Given the description of an element on the screen output the (x, y) to click on. 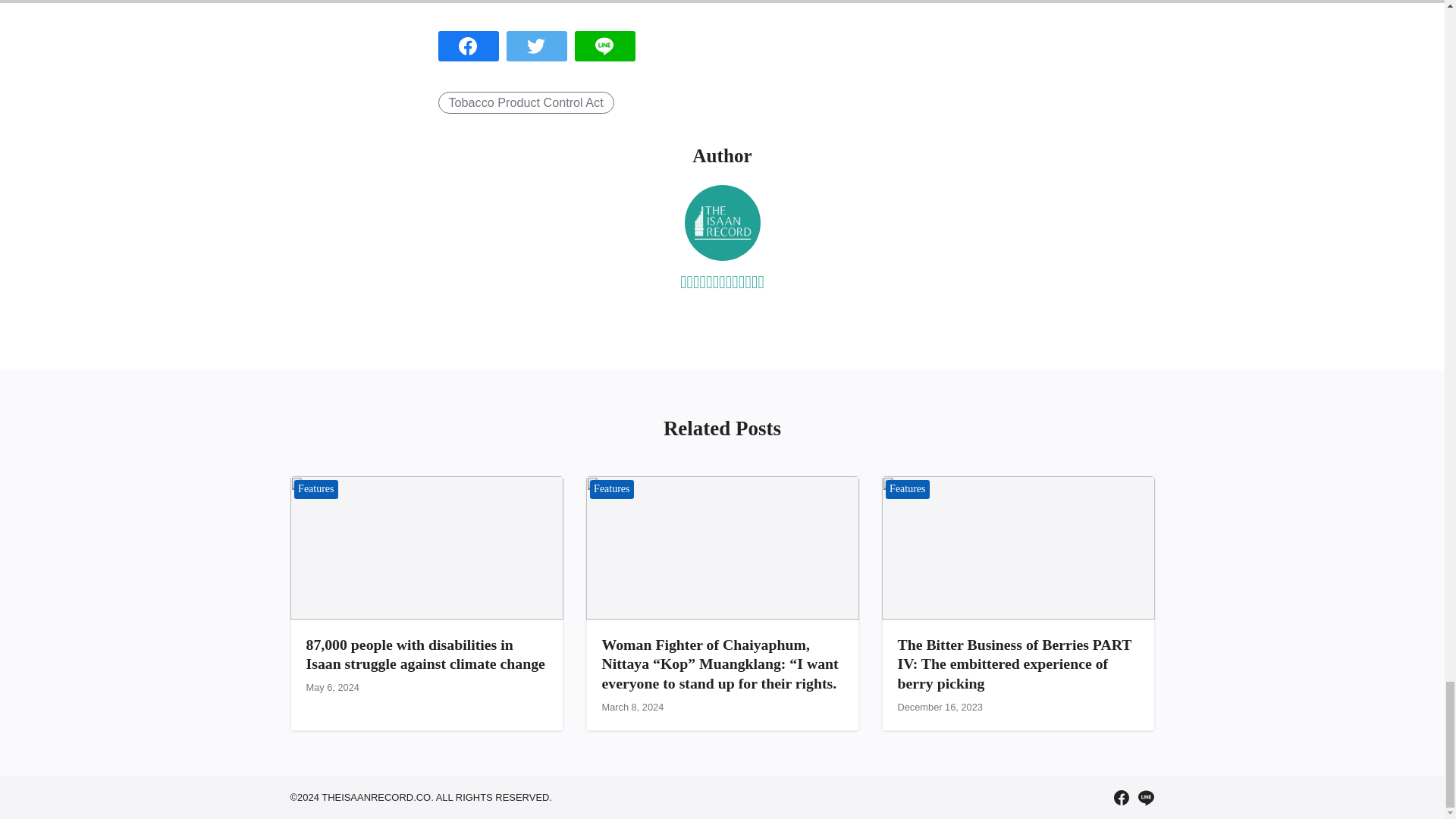
Features (611, 488)
Features (316, 488)
Features (907, 488)
Tobacco Product Control Act (526, 102)
